Given the description of an element on the screen output the (x, y) to click on. 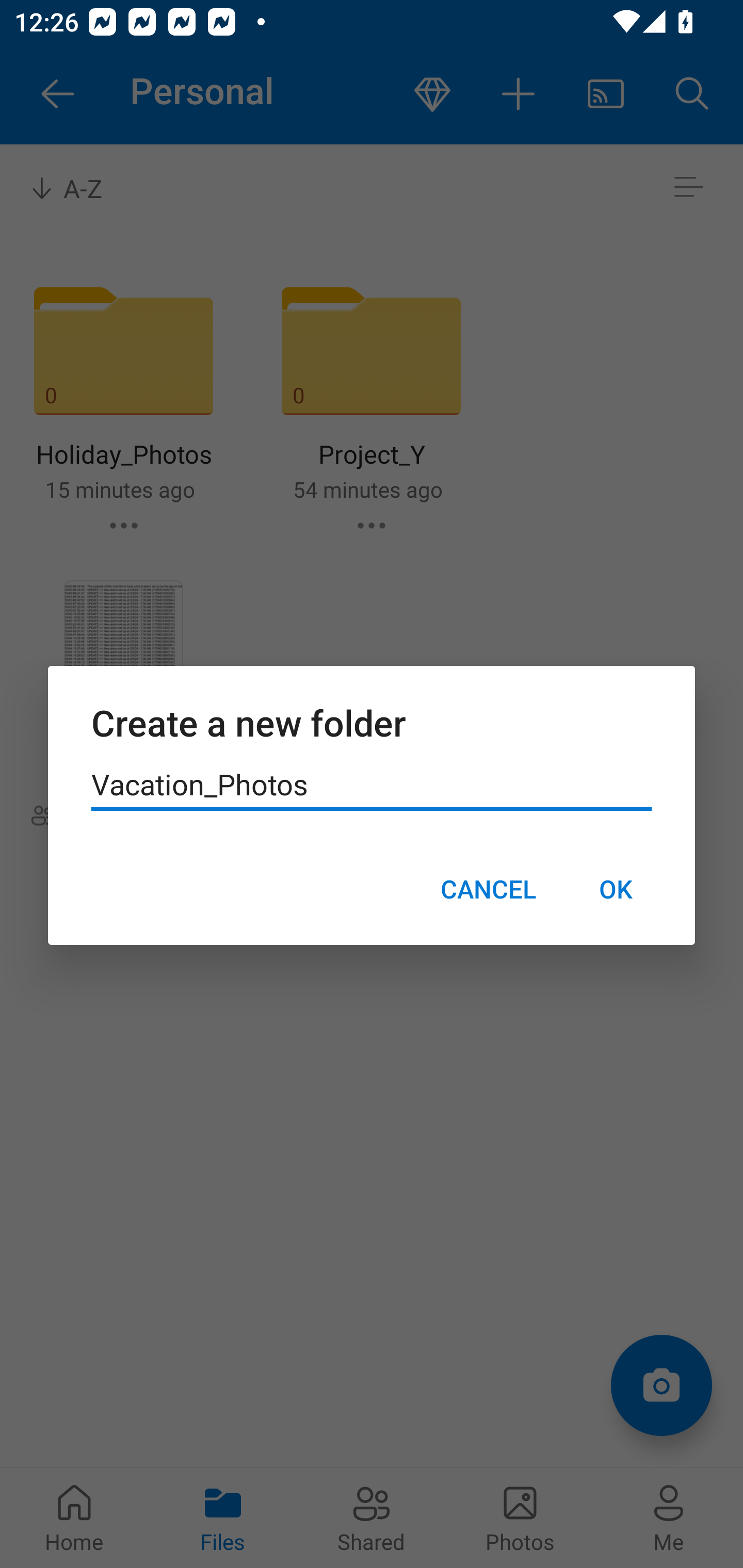
Vacation_Photos (371, 784)
CANCEL (488, 888)
OK (615, 888)
